Given the description of an element on the screen output the (x, y) to click on. 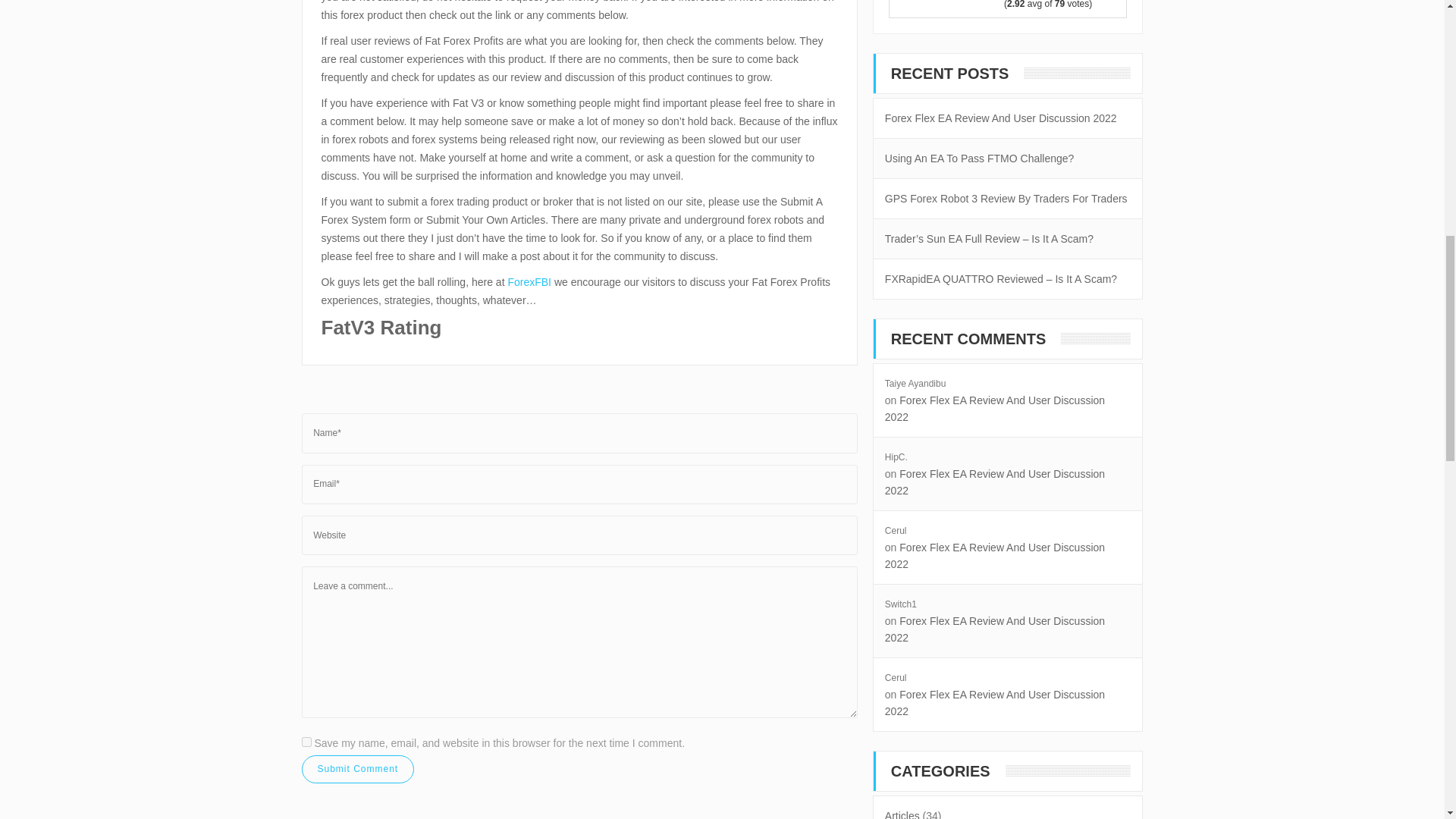
Using An EA To Pass FTMO Challenge? (979, 158)
Submit comment (357, 768)
yes (306, 741)
GPS Forex Robot 3 Review By Traders For Traders (1005, 198)
Submit comment (357, 768)
ForexFBI (529, 282)
Forex Flex EA Review And User Discussion 2022 (1000, 118)
